Given the description of an element on the screen output the (x, y) to click on. 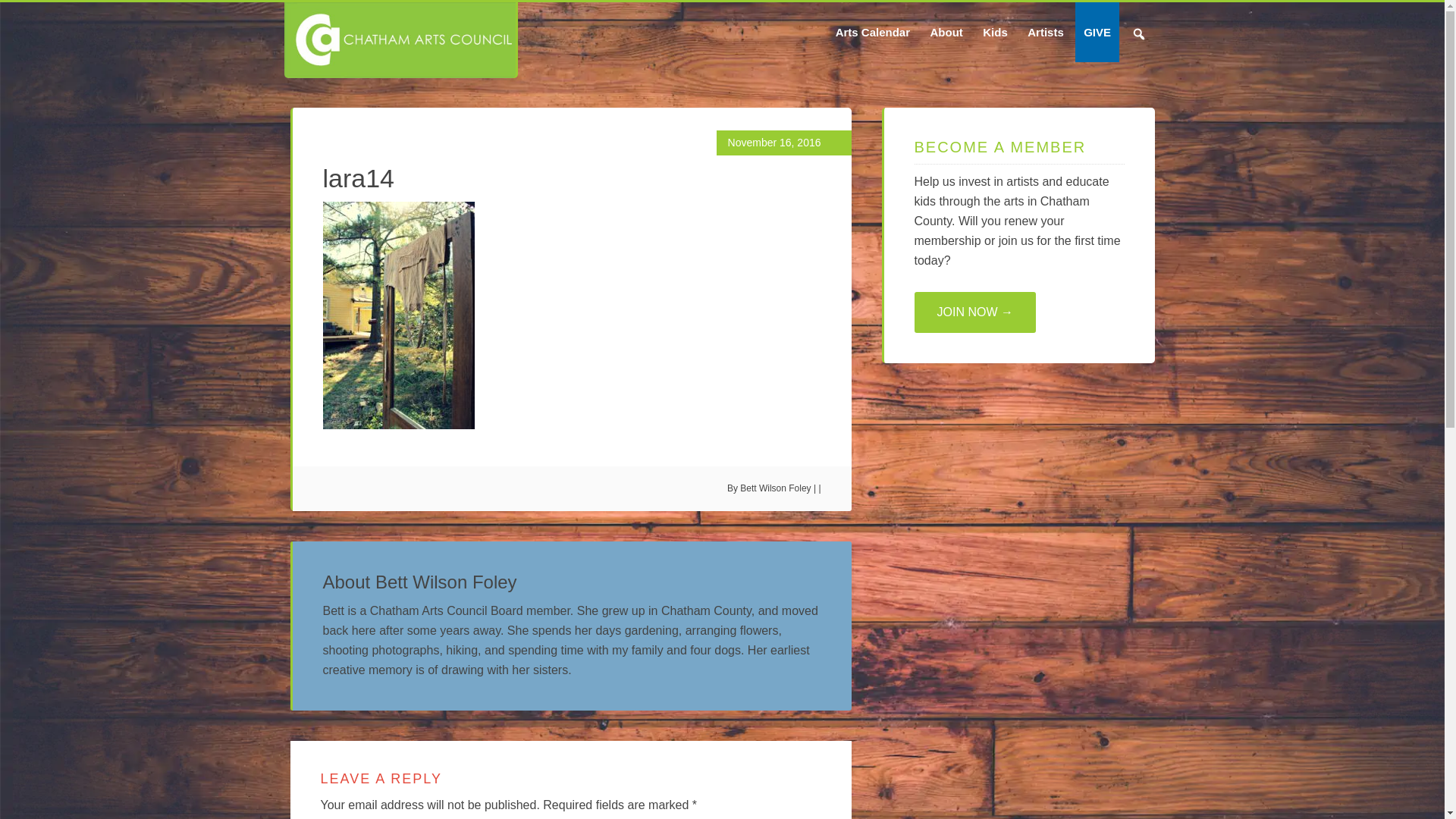
GIVE (1097, 32)
CHATHAM ARTS COUNCIL (399, 39)
Artists (1045, 32)
Bett Wilson Foley (774, 488)
About (946, 32)
Kids (995, 32)
Arts Calendar (872, 32)
